Given the description of an element on the screen output the (x, y) to click on. 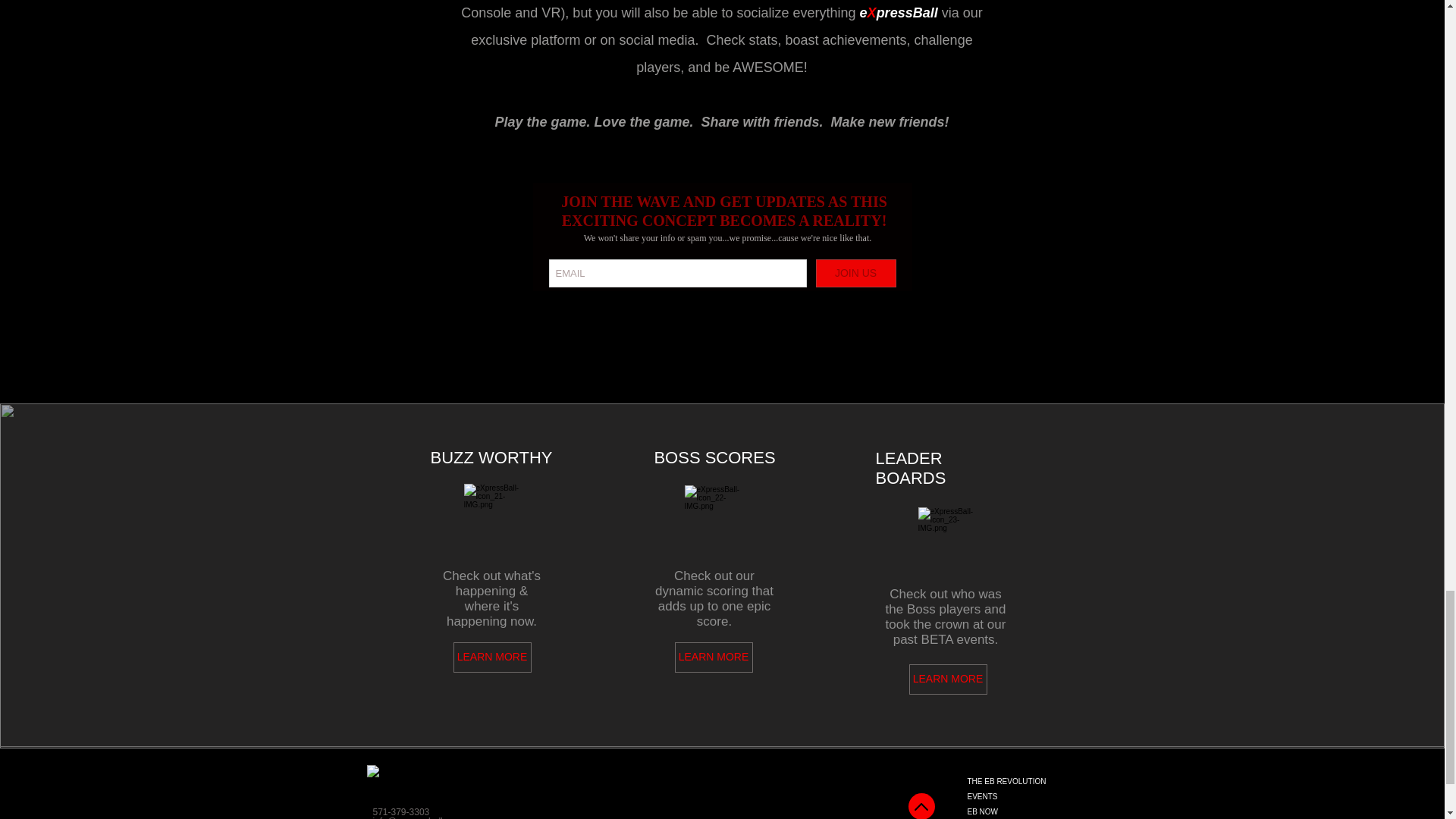
LEARN MORE (491, 657)
EVENTS (1030, 796)
EB NOW (1030, 811)
JOIN US (855, 273)
THE EB REVOLUTION (1030, 781)
LEARN MORE (947, 679)
LEARN MORE (713, 657)
